Given the description of an element on the screen output the (x, y) to click on. 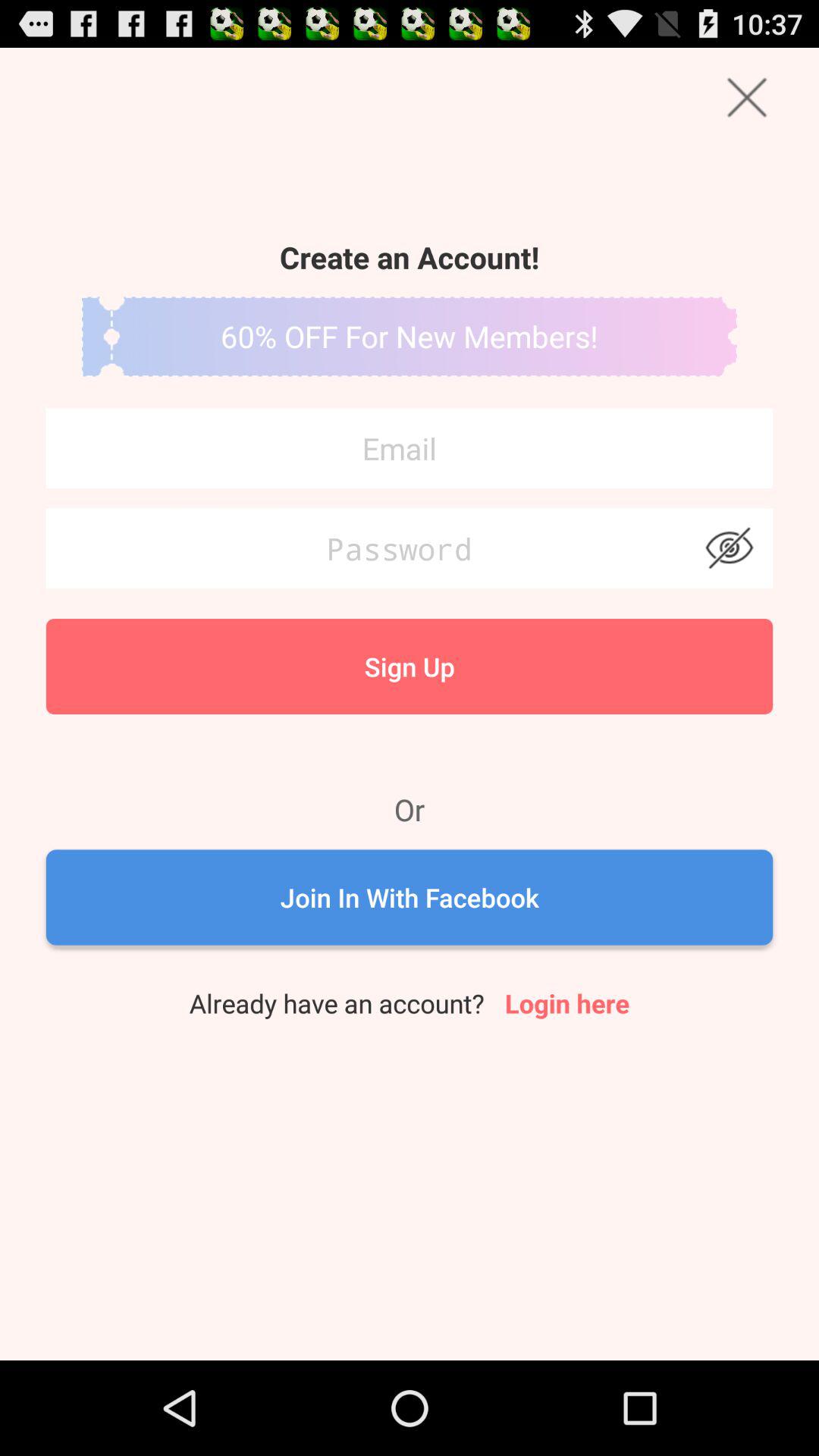
enter password (409, 548)
